Given the description of an element on the screen output the (x, y) to click on. 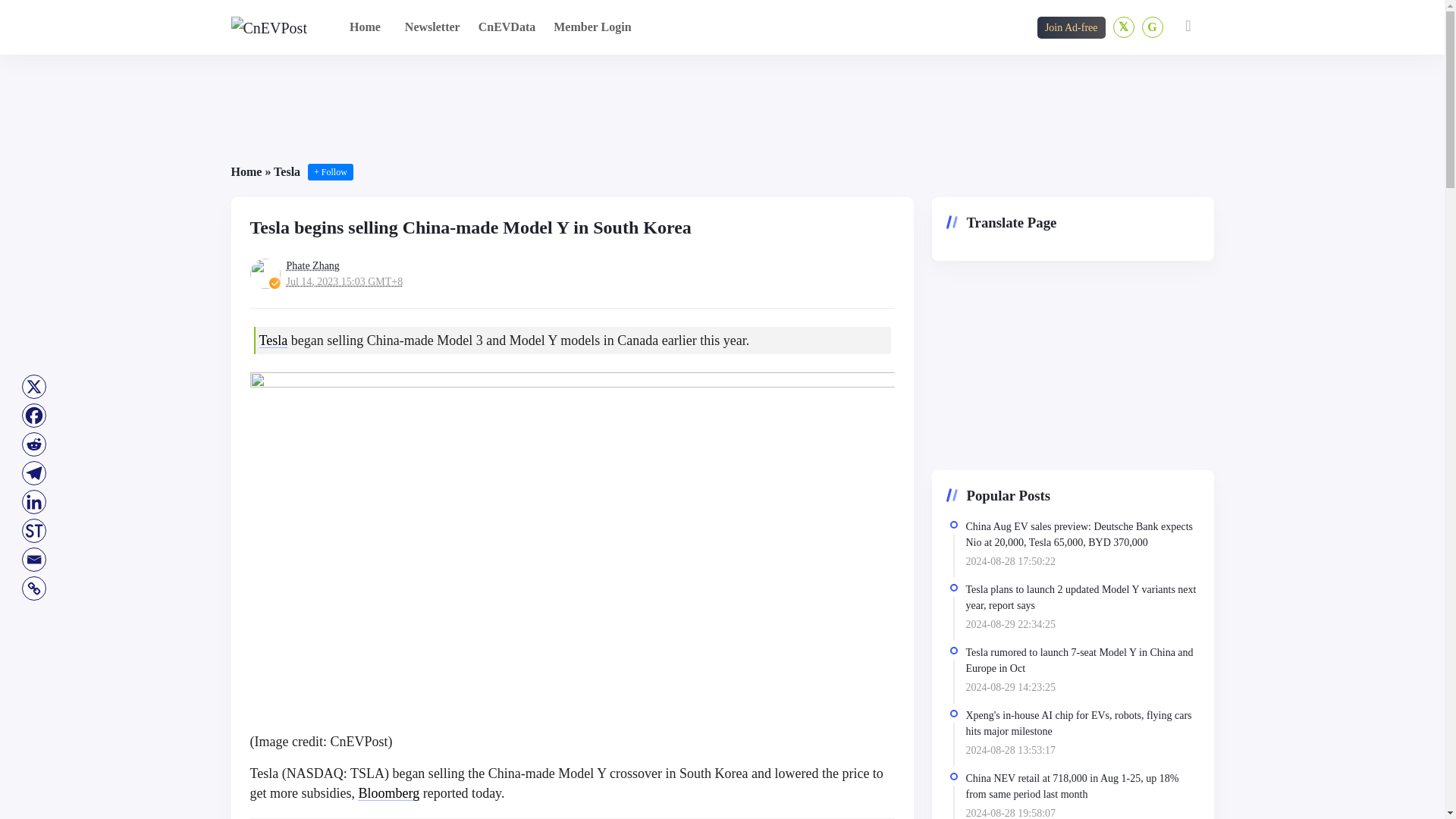
Tesla (286, 171)
Bloomberg (388, 792)
Facebook (34, 415)
CnEVData (506, 27)
Tesla (273, 340)
Newsletter (431, 27)
Home (365, 27)
Member Login (592, 27)
G (1152, 26)
X (34, 386)
